Given the description of an element on the screen output the (x, y) to click on. 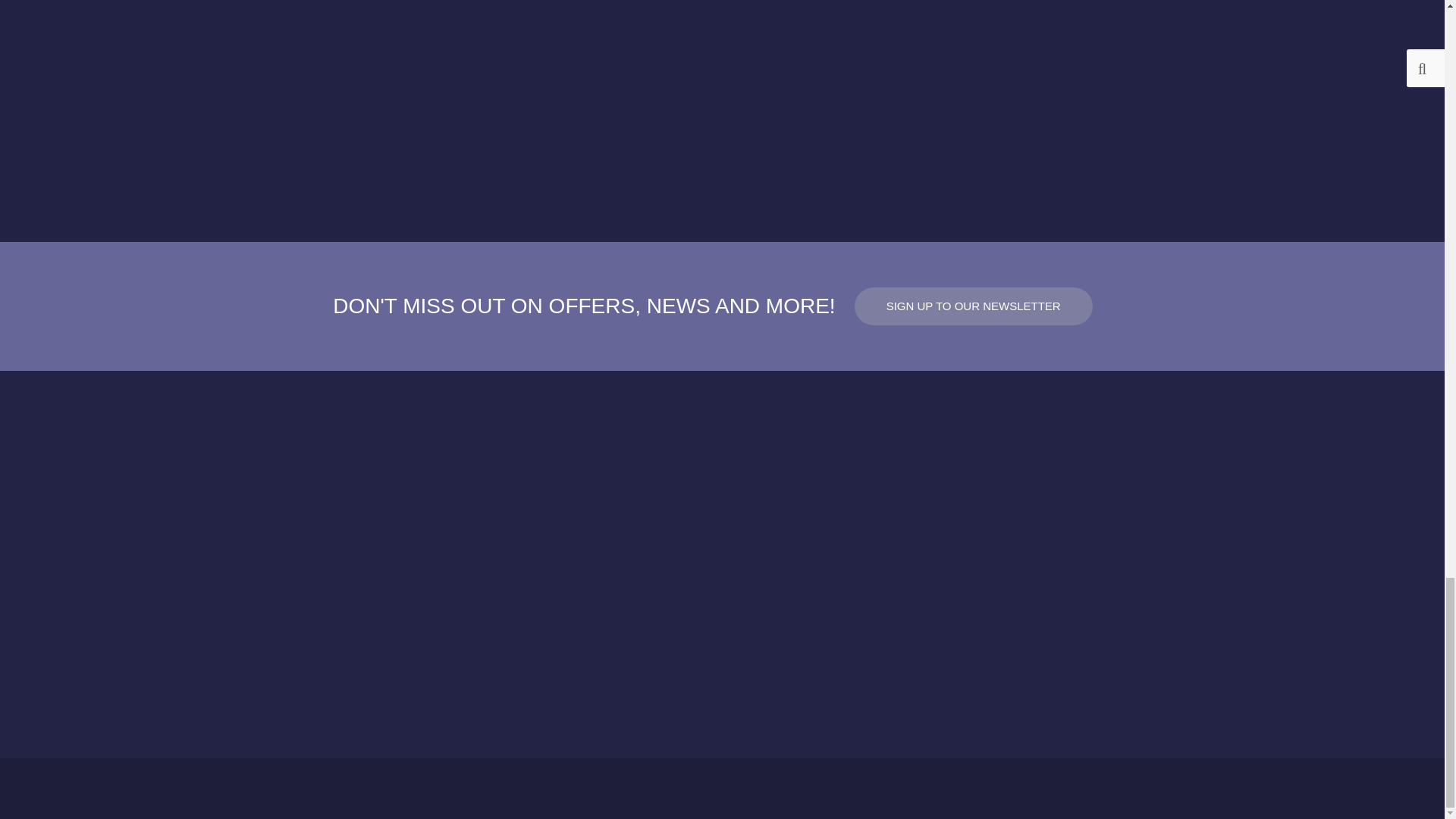
SIGN UP TO OUR NEWSLETTER (973, 306)
